Given the description of an element on the screen output the (x, y) to click on. 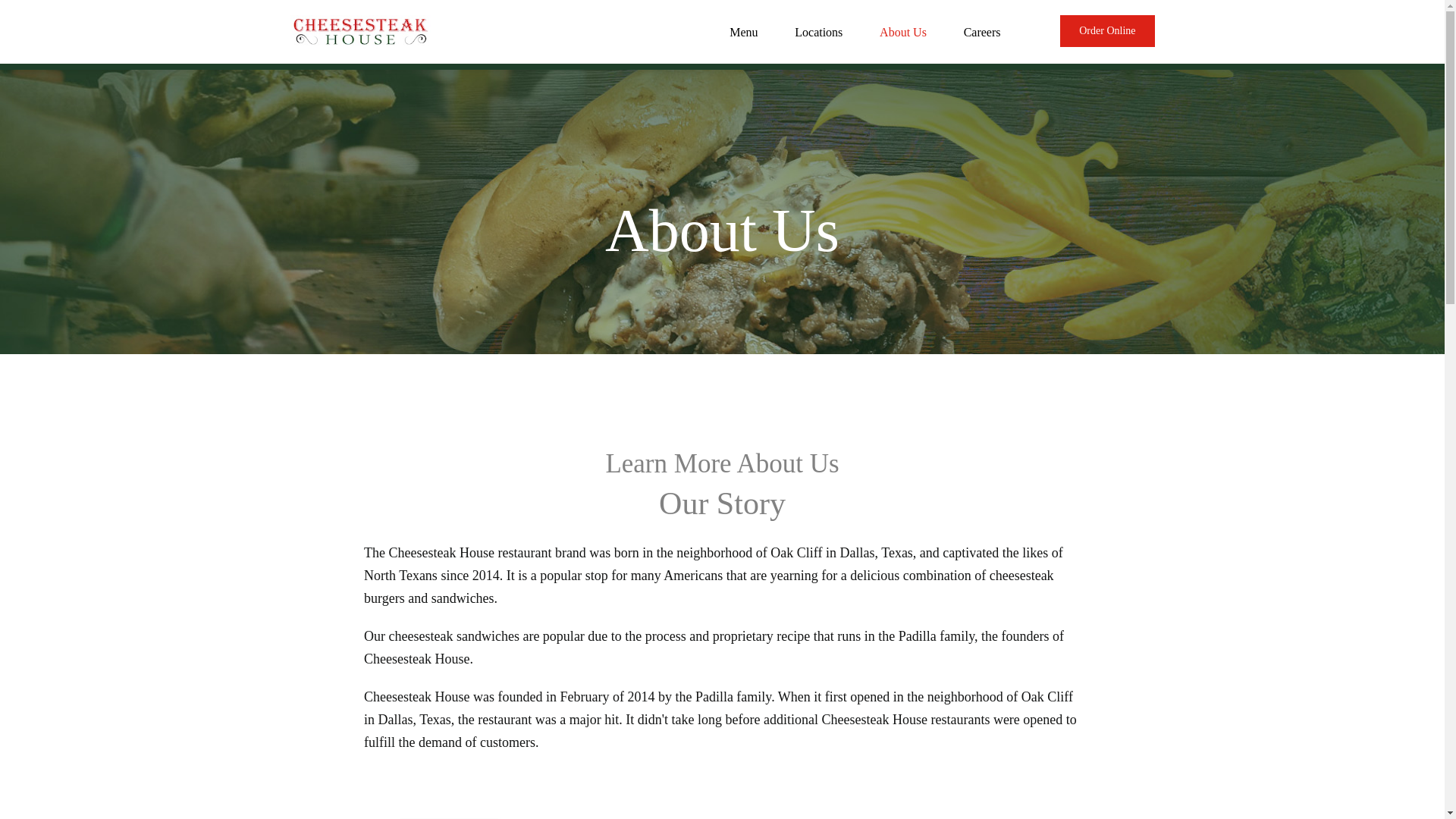
Careers (982, 34)
Cheesesteak House (499, 807)
Menu (743, 34)
Order Online (1106, 30)
About Us (902, 34)
Locations (818, 34)
